Given the description of an element on the screen output the (x, y) to click on. 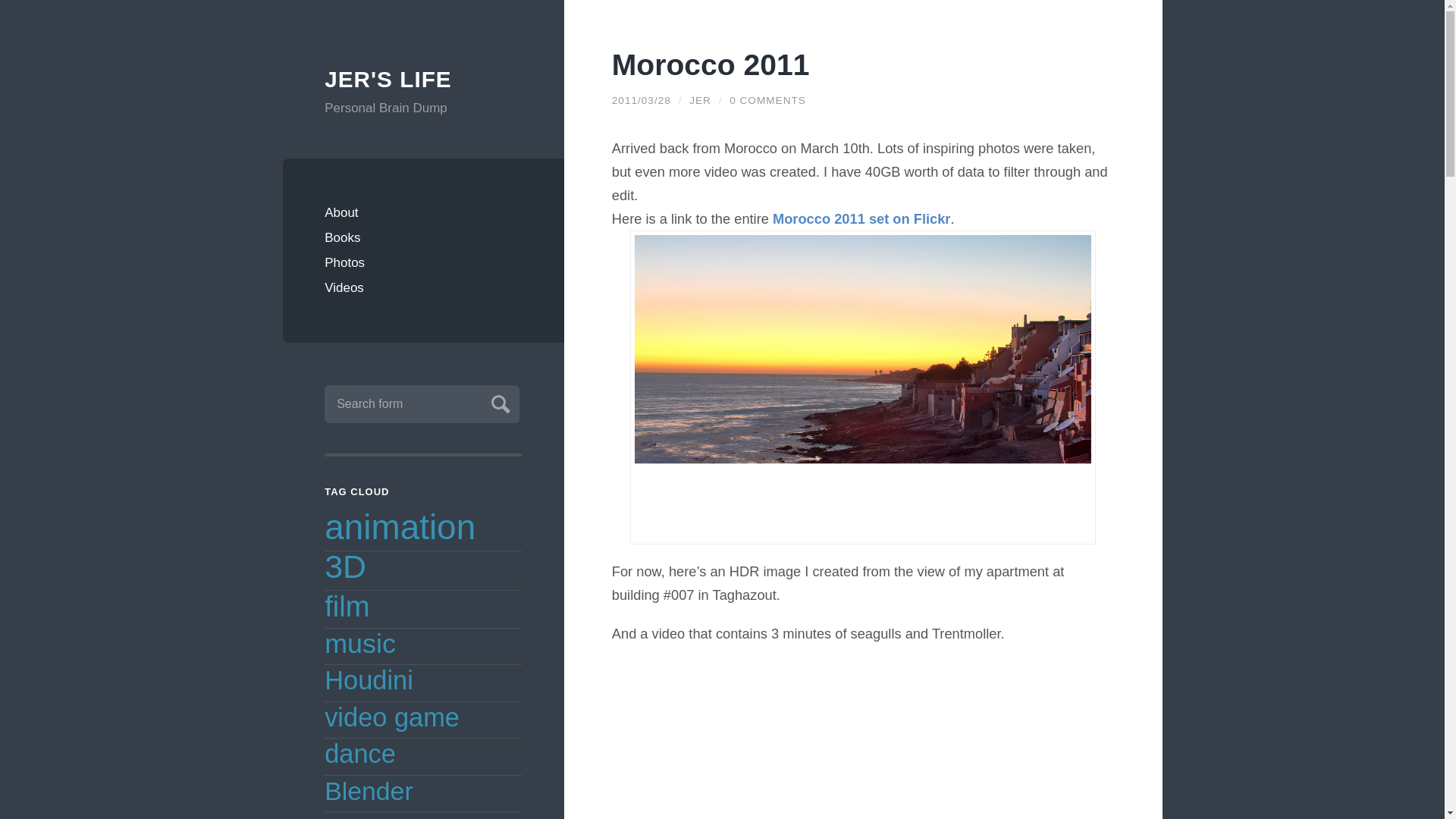
Houdini (368, 679)
2D (340, 816)
JER'S LIFE (422, 79)
Morocco 2011 (710, 64)
dance (360, 753)
animation (400, 526)
Photos (422, 262)
Books (422, 237)
film (346, 605)
music (360, 643)
